Given the description of an element on the screen output the (x, y) to click on. 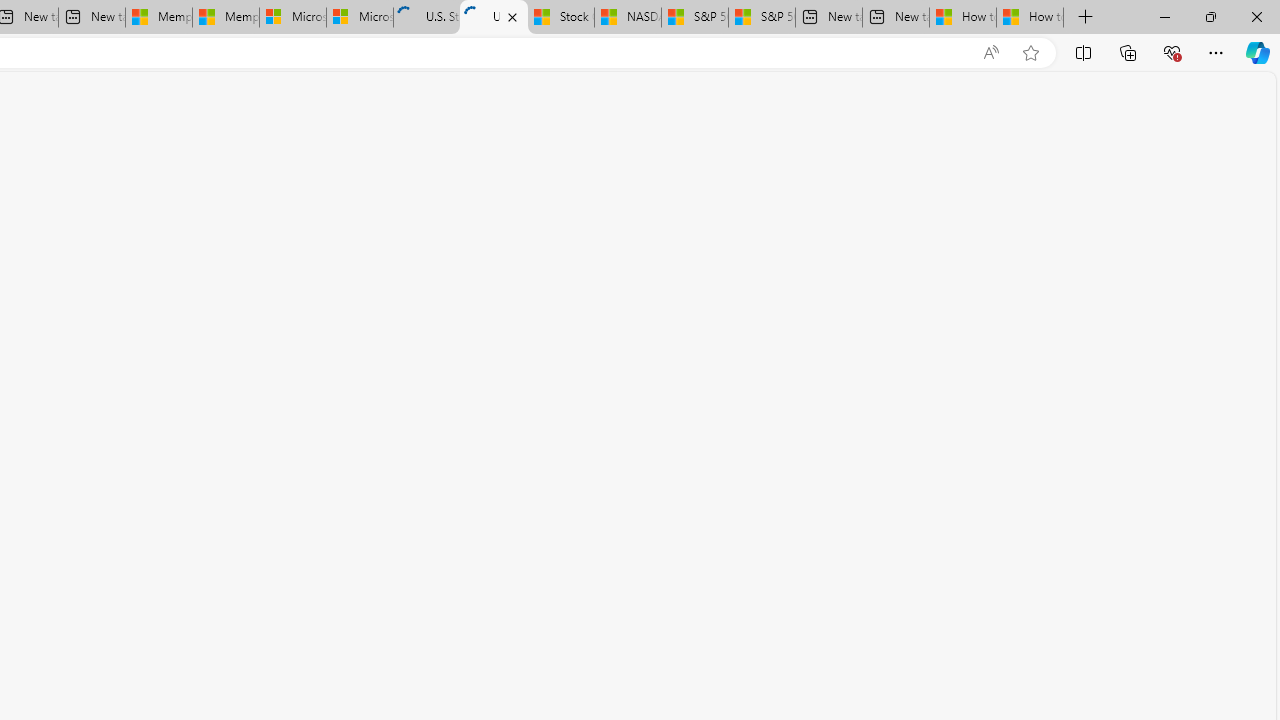
S&P 500, Nasdaq end lower, weighed by Nvidia dip | Watch (761, 17)
